Given the description of an element on the screen output the (x, y) to click on. 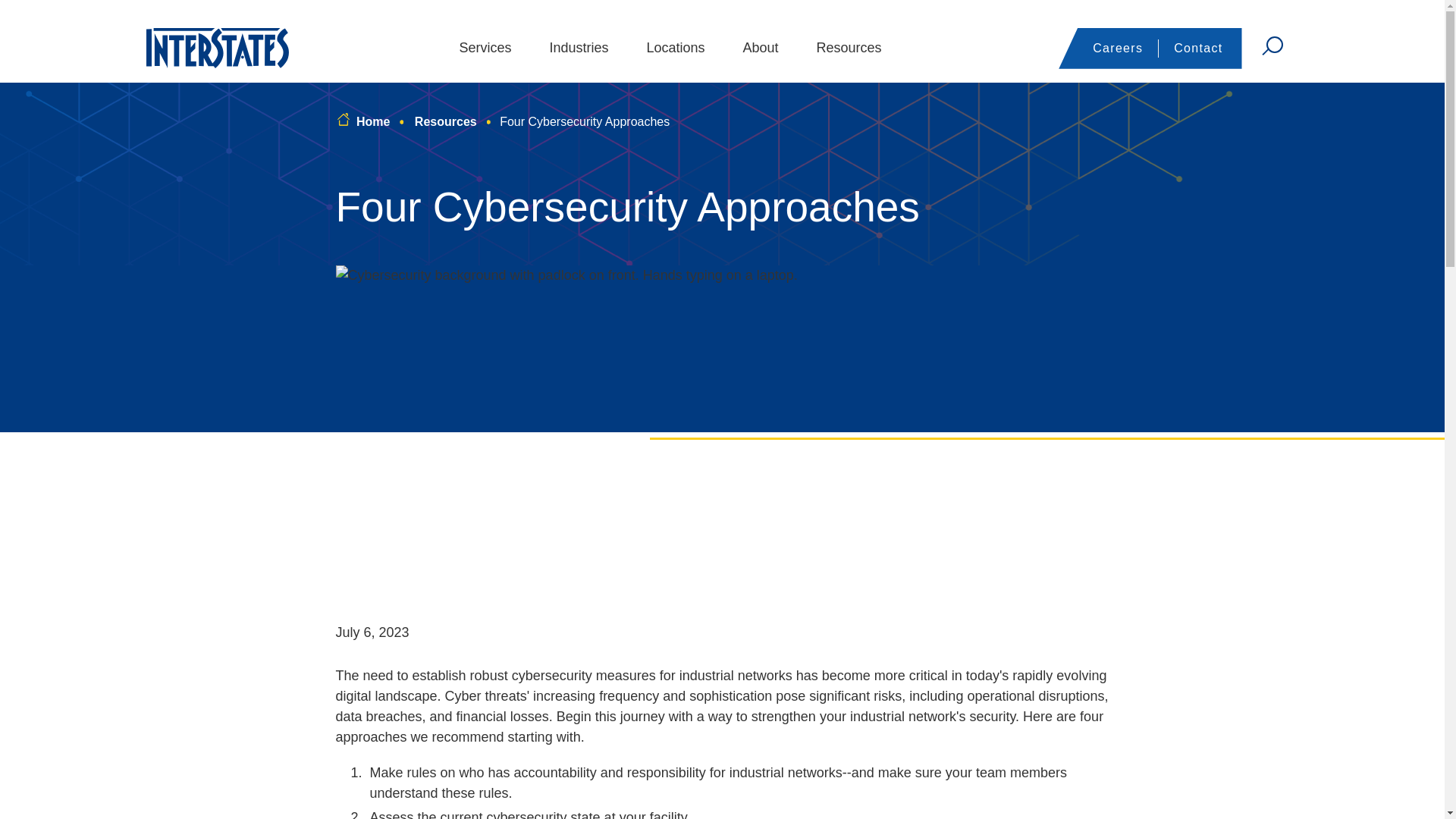
Locations (675, 48)
Careers (1117, 47)
Industries (578, 48)
Services (484, 48)
Contact (1198, 47)
Resources (849, 48)
